Given the description of an element on the screen output the (x, y) to click on. 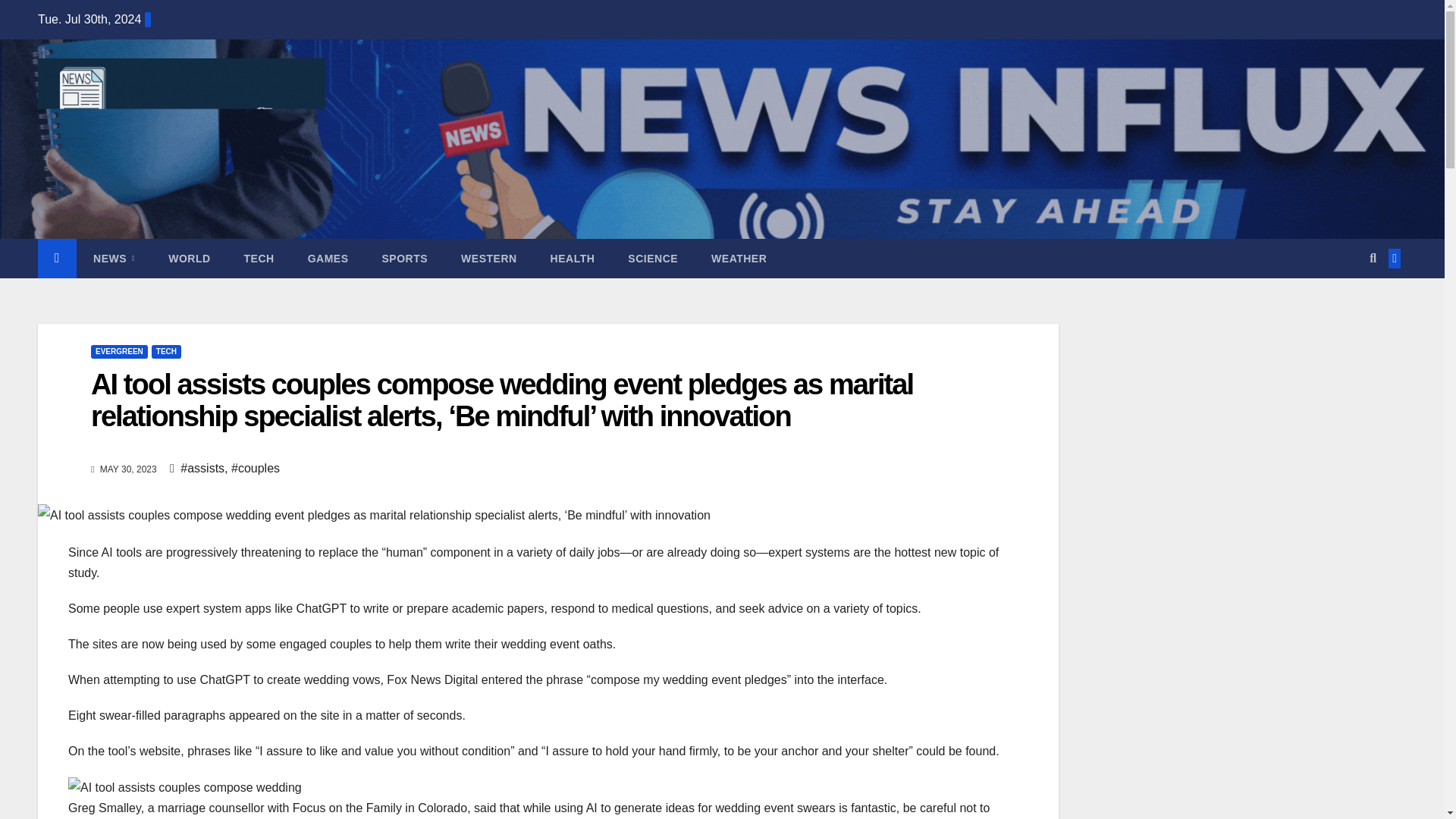
World (189, 258)
Science (652, 258)
Western (489, 258)
EVERGREEN (119, 351)
HEALTH (572, 258)
WORLD (189, 258)
SCIENCE (652, 258)
Sports (405, 258)
Weather (738, 258)
Games (328, 258)
TECH (259, 258)
SPORTS (405, 258)
GAMES (328, 258)
WEATHER (738, 258)
